Given the description of an element on the screen output the (x, y) to click on. 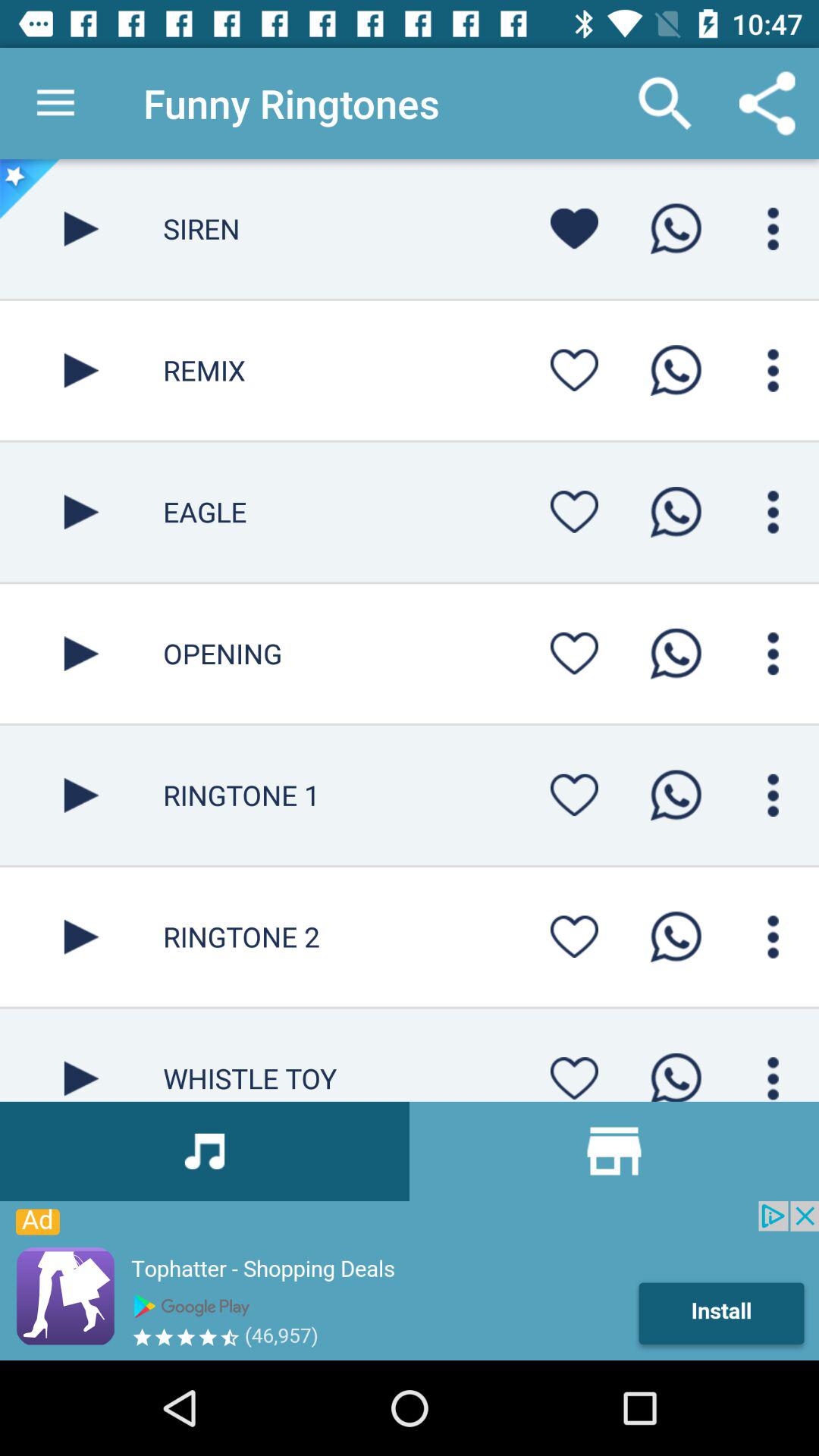
play (81, 795)
